Given the description of an element on the screen output the (x, y) to click on. 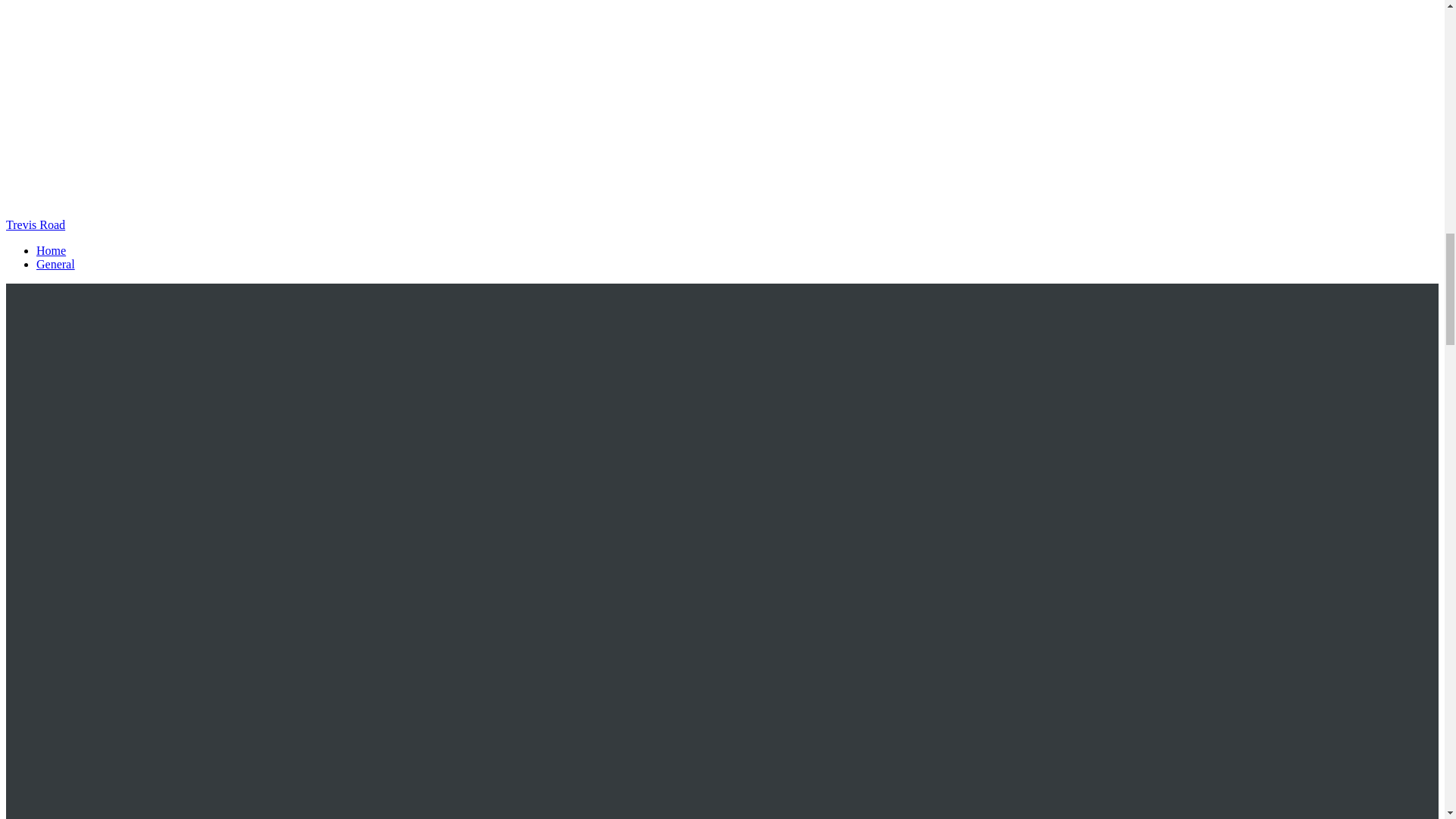
Trevis Road (35, 224)
General (55, 264)
Home (50, 250)
